Given the description of an element on the screen output the (x, y) to click on. 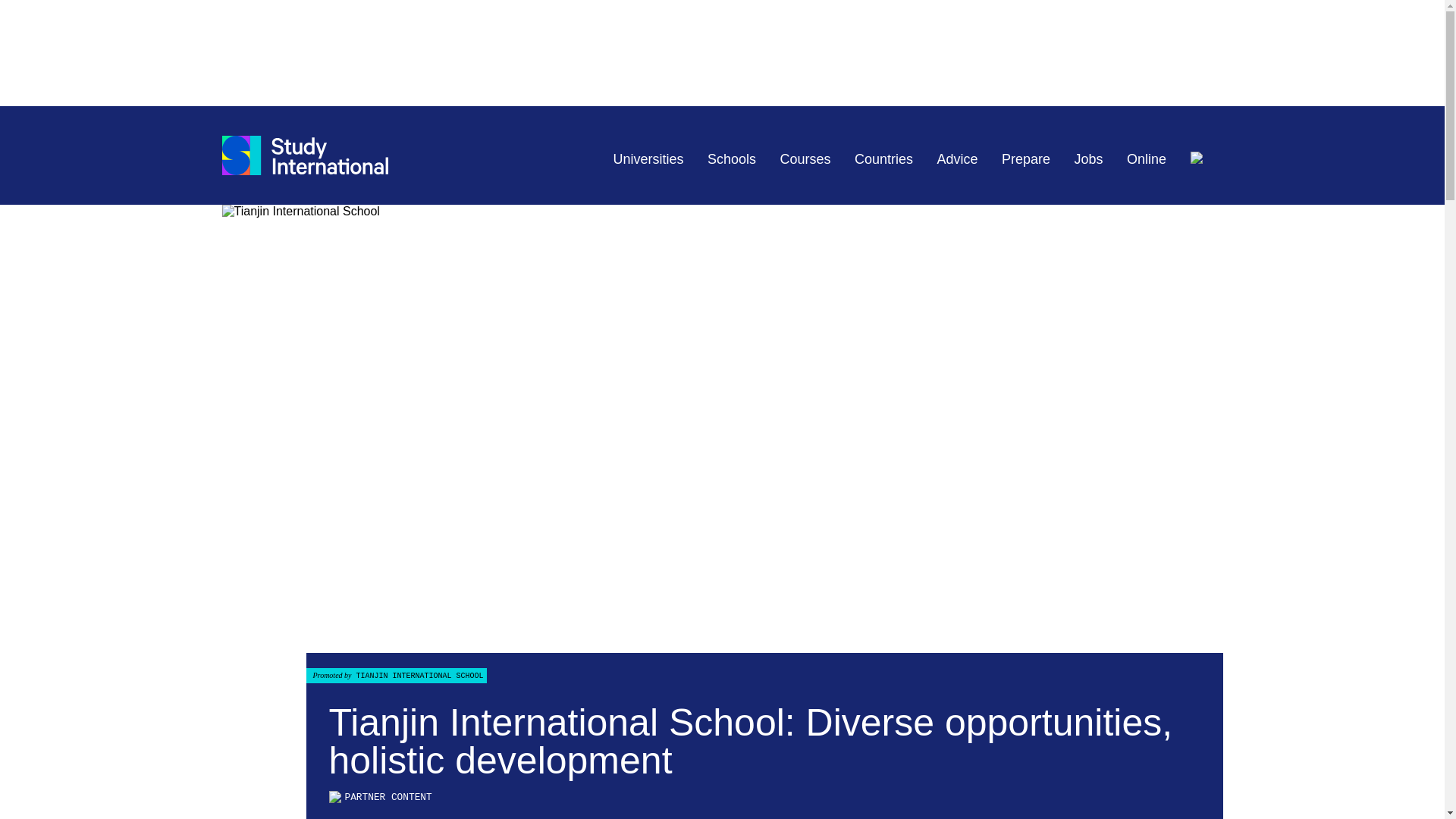
Online (1146, 159)
Jobs (1088, 159)
Universities (648, 159)
Countries (883, 159)
Prepare (1025, 159)
Schools (731, 159)
Courses (805, 159)
Advice (957, 159)
